Given the description of an element on the screen output the (x, y) to click on. 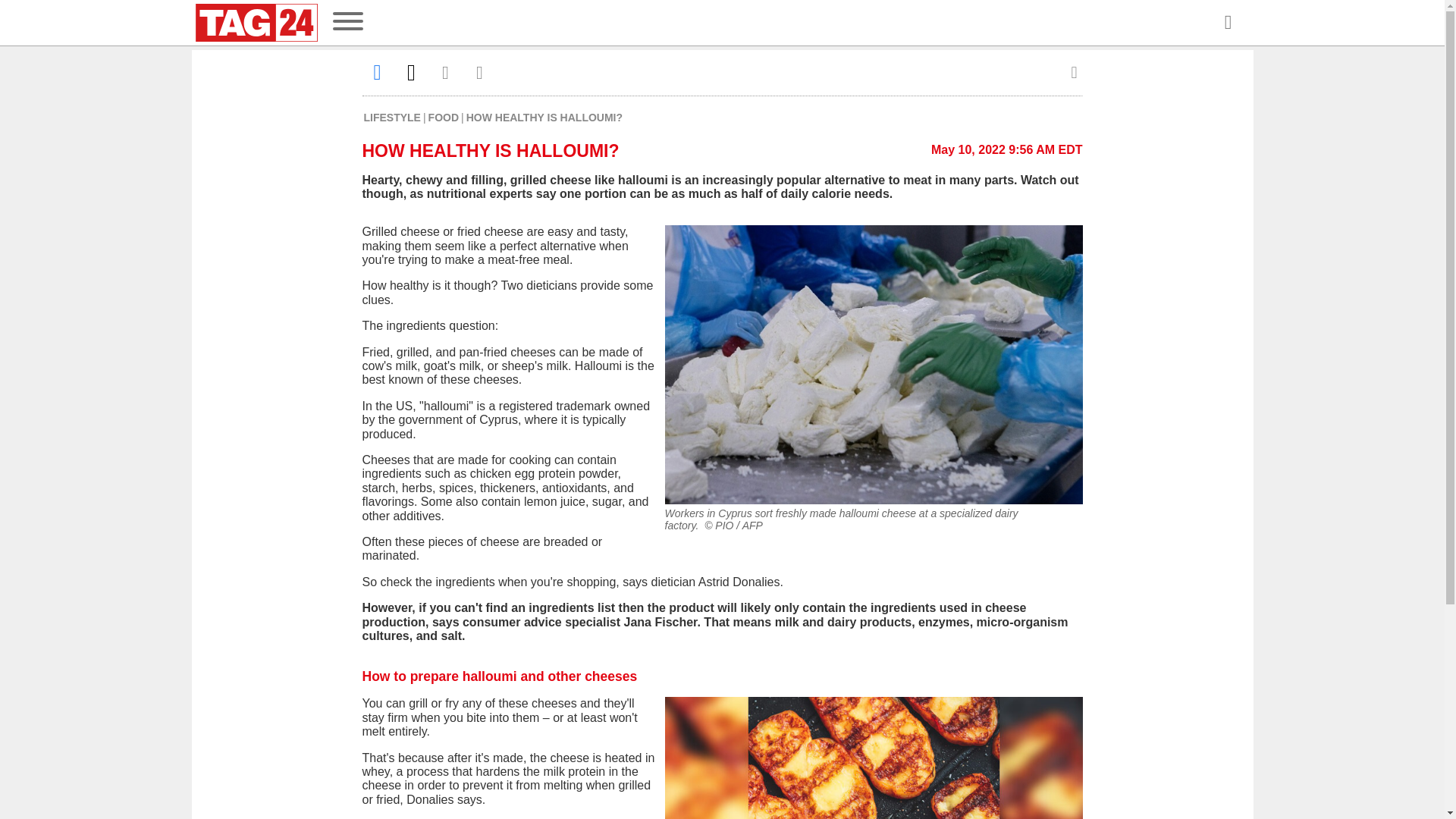
Open search (1227, 22)
FOOD (443, 117)
Share via mail (445, 72)
Share on Facebook (377, 72)
LIFESTYLE (392, 117)
Copy link (479, 72)
menu (347, 22)
Share on Twitter (411, 72)
